Given the description of an element on the screen output the (x, y) to click on. 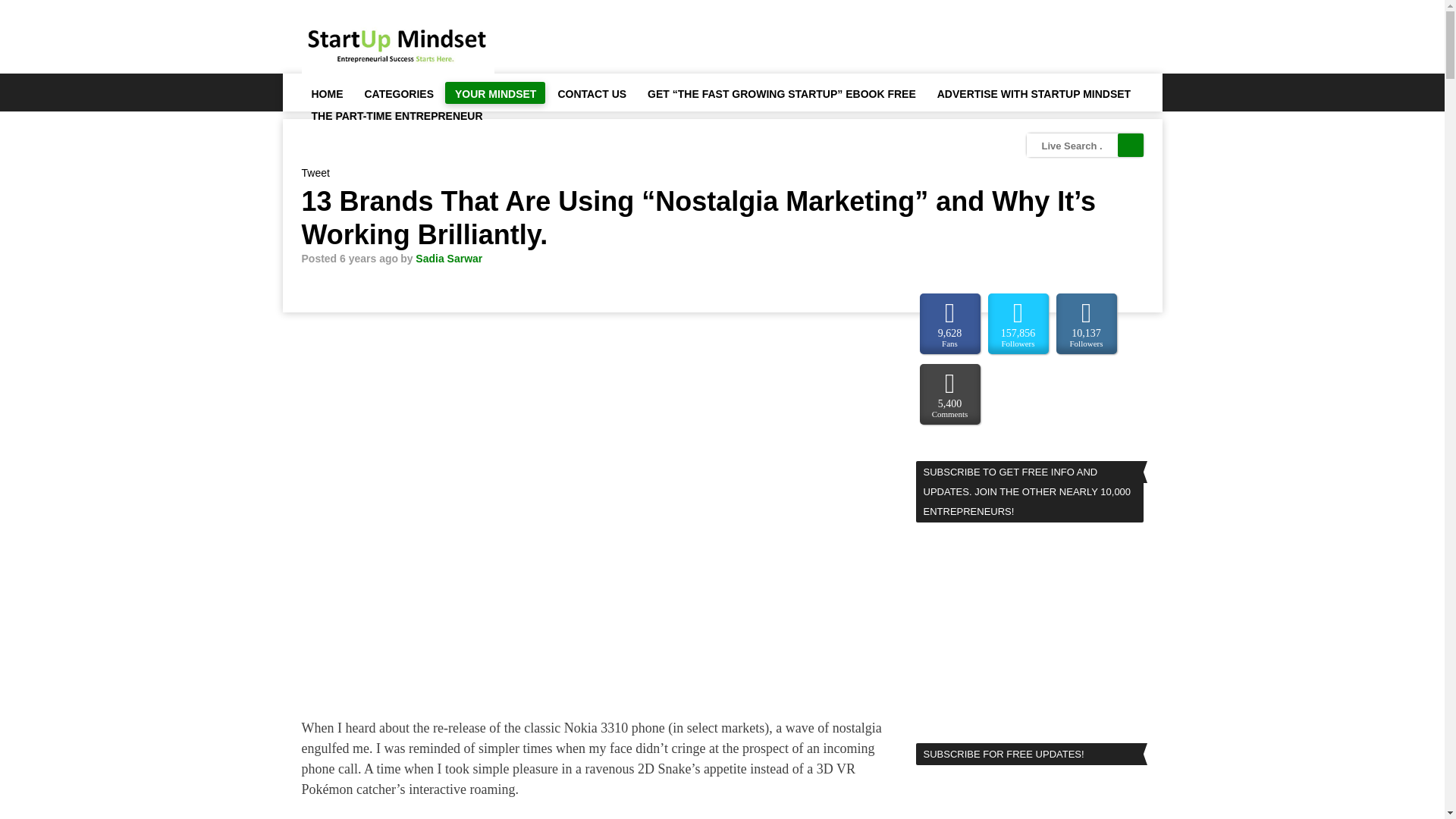
THE PART-TIME ENTREPRENEUR (396, 115)
Posts by Sadia Sarwar (447, 258)
Search (1130, 145)
Tweet (315, 173)
Search (1130, 145)
YOUR MINDSET (494, 92)
CONTACT US (590, 92)
CATEGORIES (399, 92)
ADVERTISE WITH STARTUP MINDSET (1033, 92)
Sadia Sarwar (447, 258)
